Given the description of an element on the screen output the (x, y) to click on. 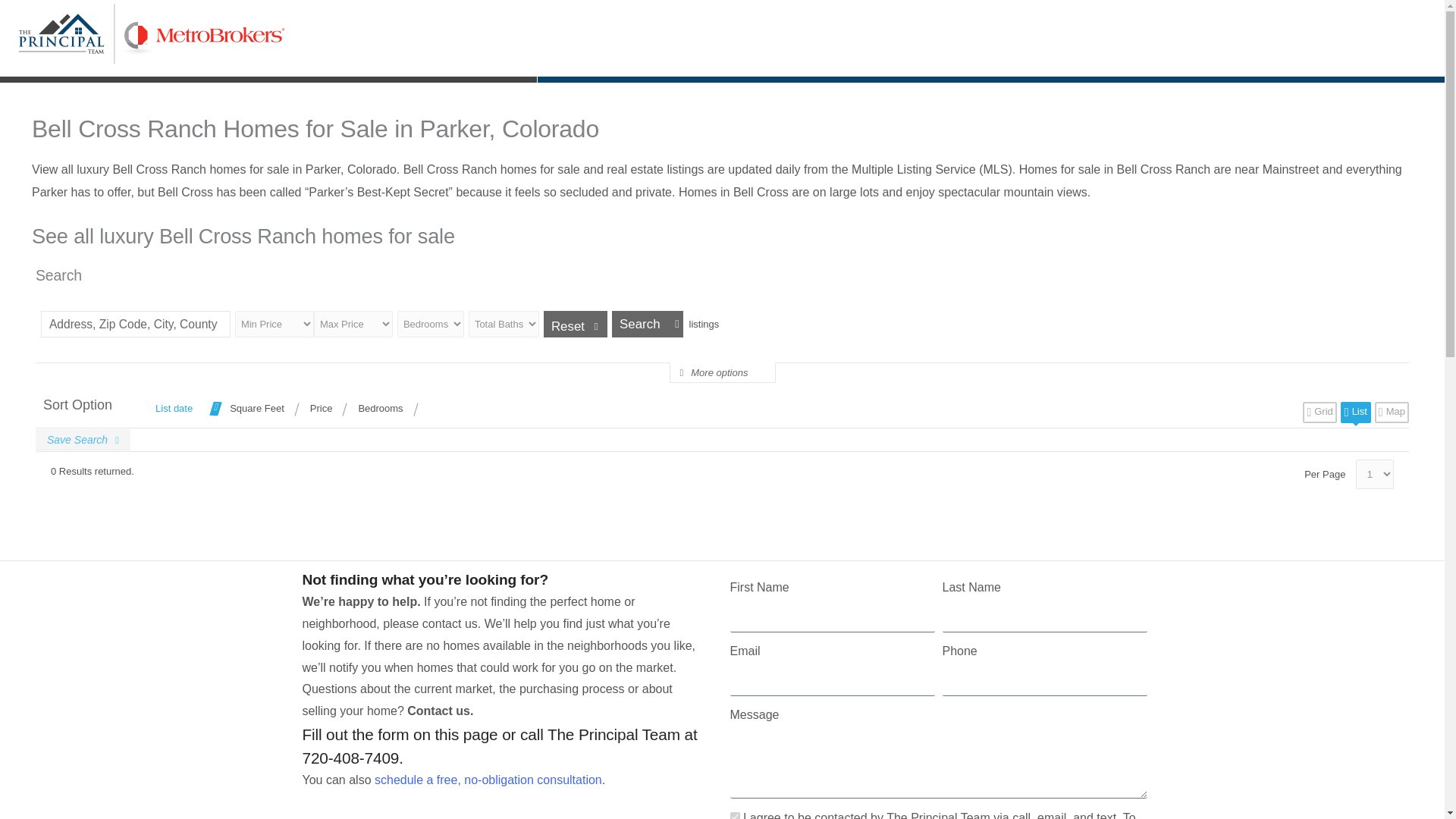
Search (646, 324)
on (734, 815)
Search (646, 324)
